Given the description of an element on the screen output the (x, y) to click on. 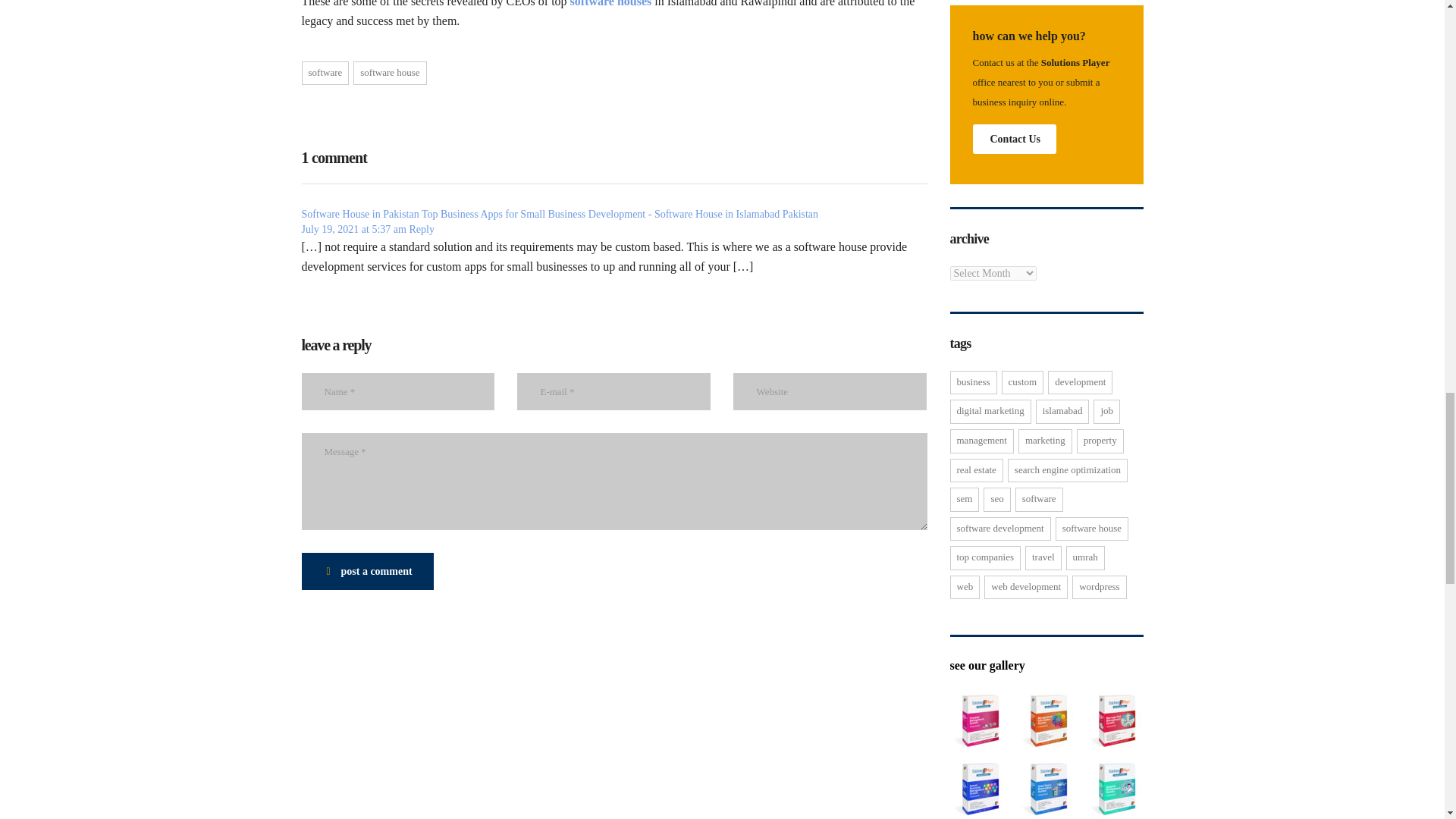
hospital software in Pakistan (1114, 788)
hrms (977, 788)
contact us (1014, 138)
pms (977, 720)
mis (1045, 720)
hotel (1045, 788)
mhms (1114, 720)
